Given the description of an element on the screen output the (x, y) to click on. 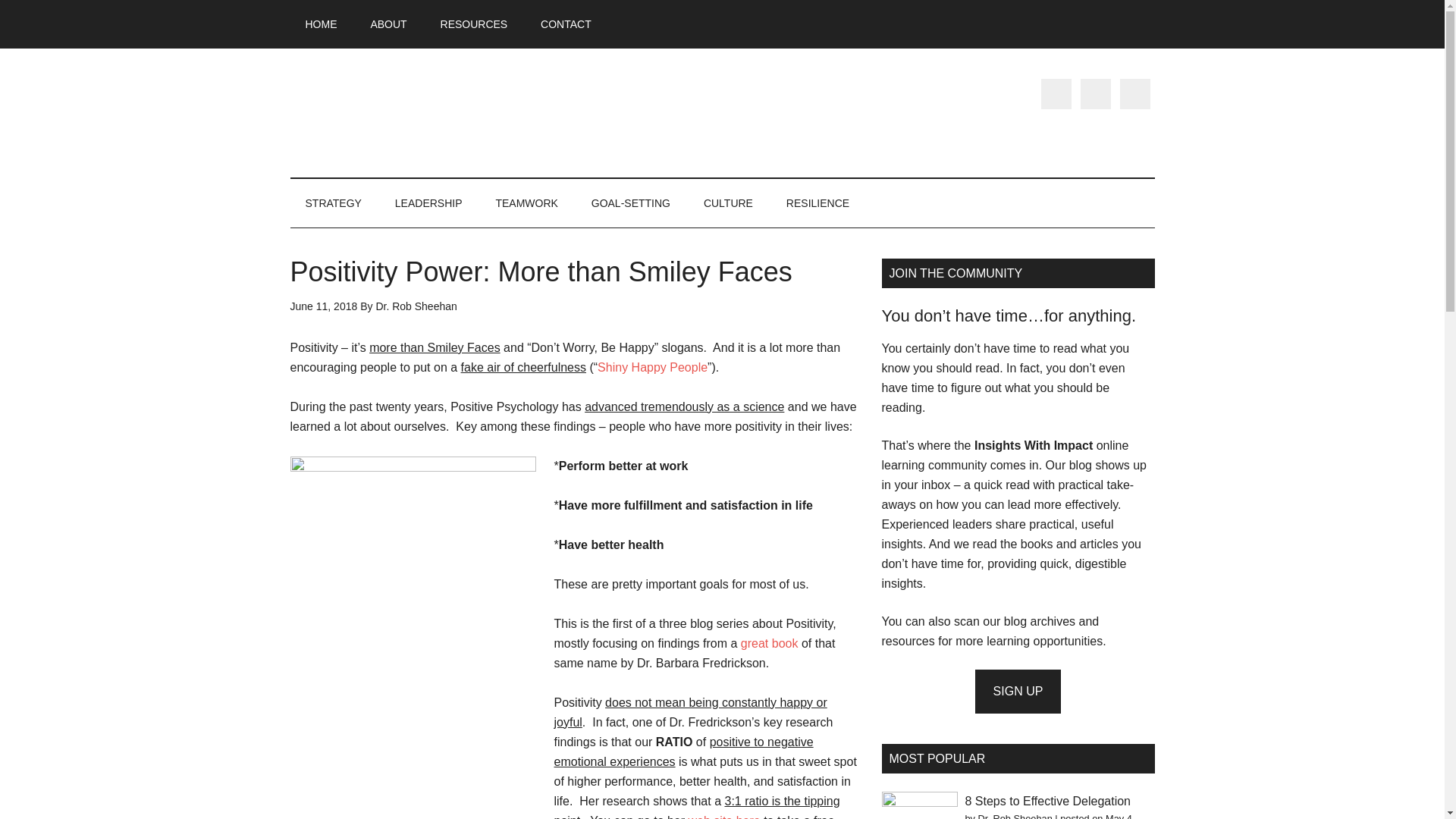
CULTURE (728, 203)
TEAMWORK (526, 203)
RESOURCES (473, 24)
GOAL-SETTING (630, 203)
Insights With Impact (433, 112)
STRATEGY (332, 203)
Dr. Rob Sheehan (1015, 816)
great book (769, 643)
8 Steps to Effective Delegation (1047, 800)
SIGN UP (1018, 691)
HOME (320, 24)
web site here (724, 816)
RESILIENCE (817, 203)
ABOUT (388, 24)
